Given the description of an element on the screen output the (x, y) to click on. 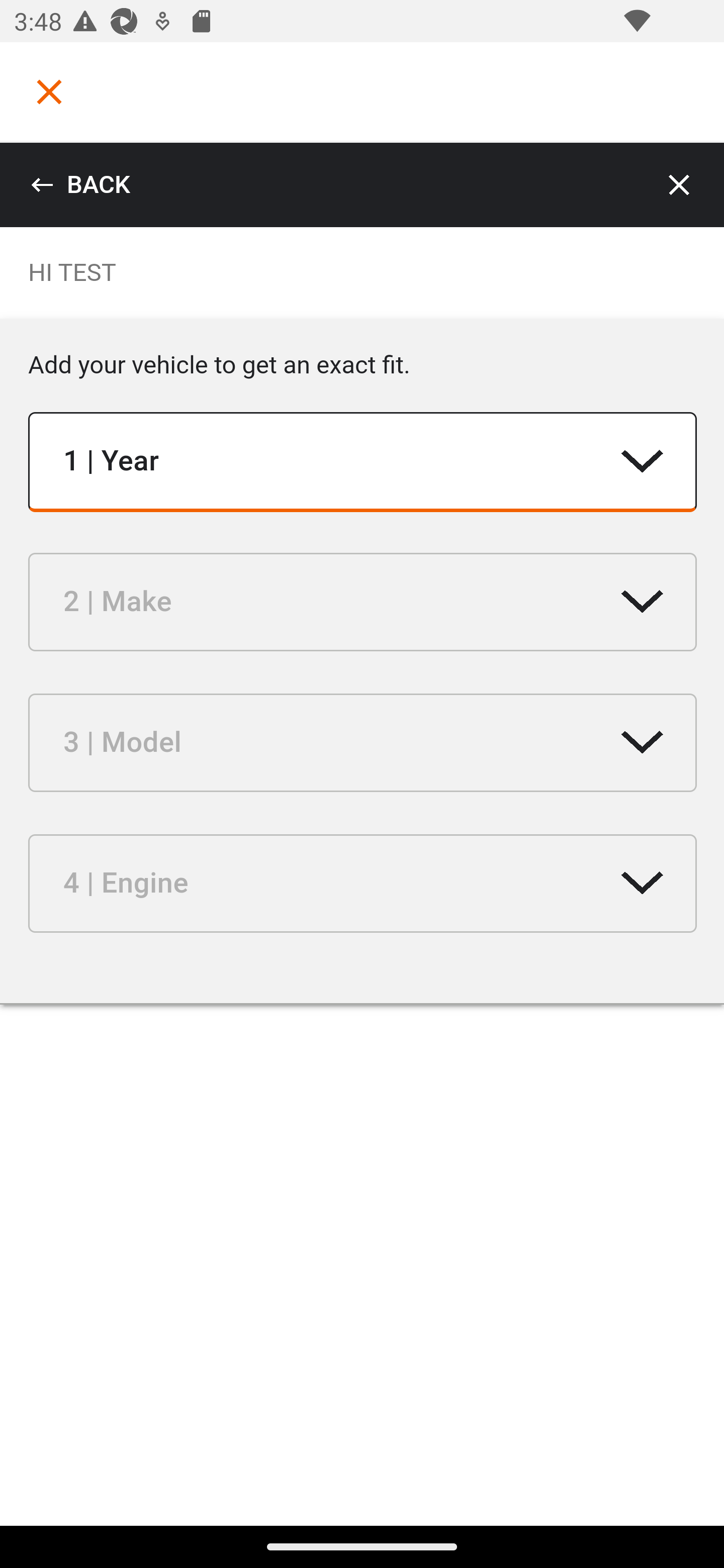
 (49, 91)
